Given the description of an element on the screen output the (x, y) to click on. 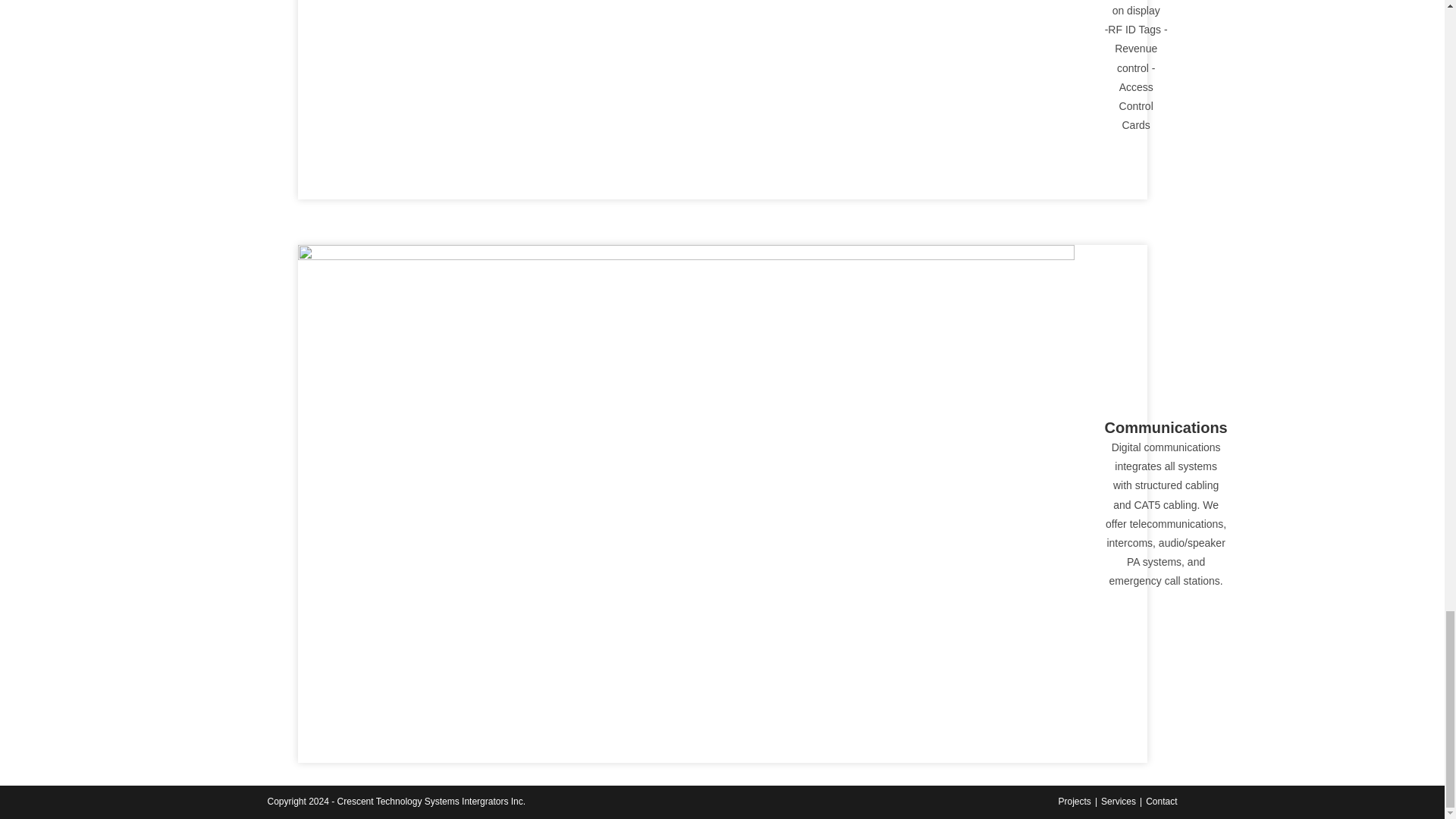
Contact (1160, 801)
Services (1117, 801)
Communications (1165, 427)
Crescent Technology Systems Intergrators Inc. (431, 801)
Projects (1074, 801)
